Given the description of an element on the screen output the (x, y) to click on. 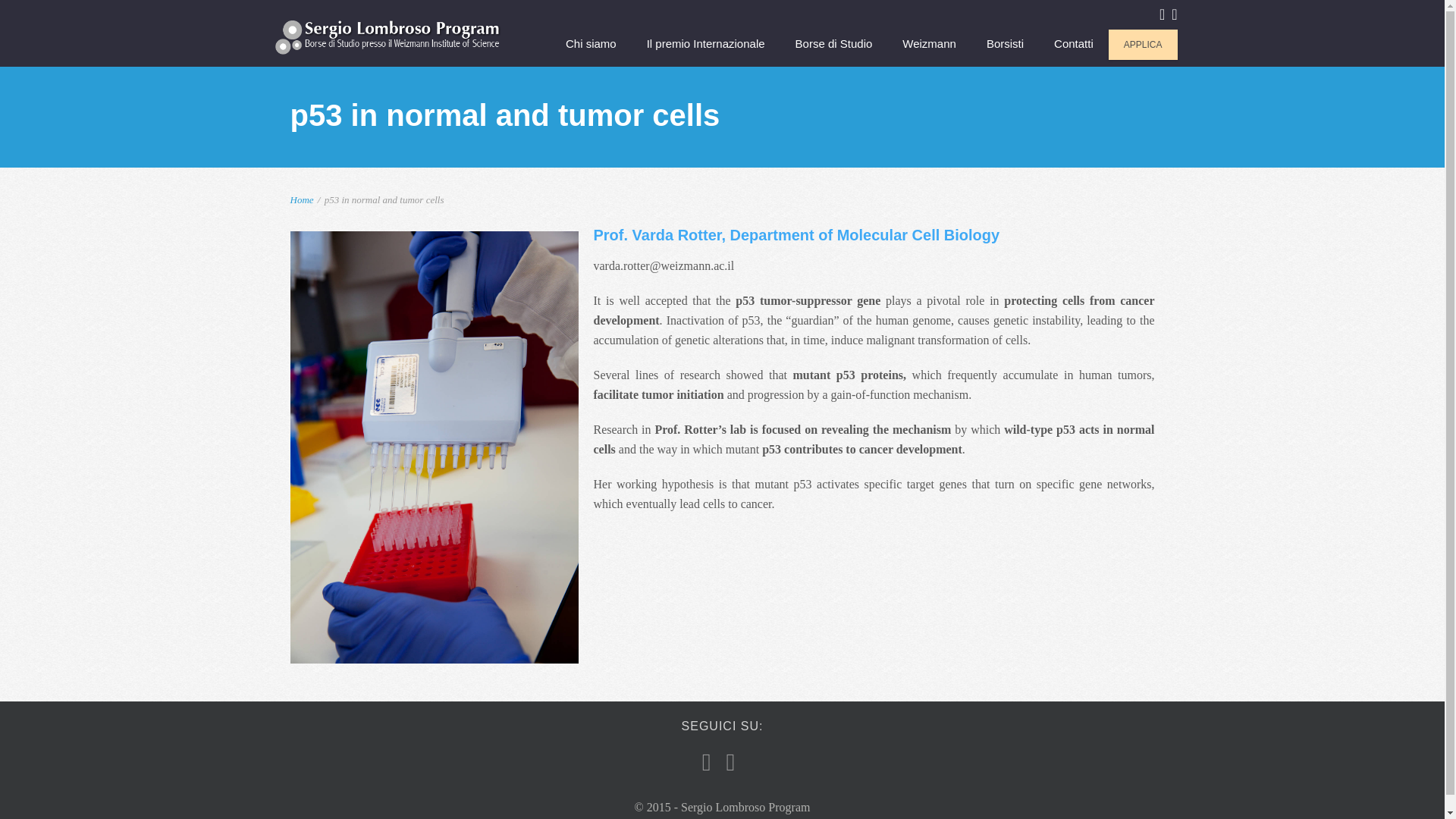
Seguici su Facebook (706, 762)
Seguici su LinkedIn (730, 762)
Seguici su Facebook (1161, 14)
Chi siamo (590, 46)
Seguici su LinkedIn (1174, 14)
Sergio Lombroso Program (388, 35)
